Given the description of an element on the screen output the (x, y) to click on. 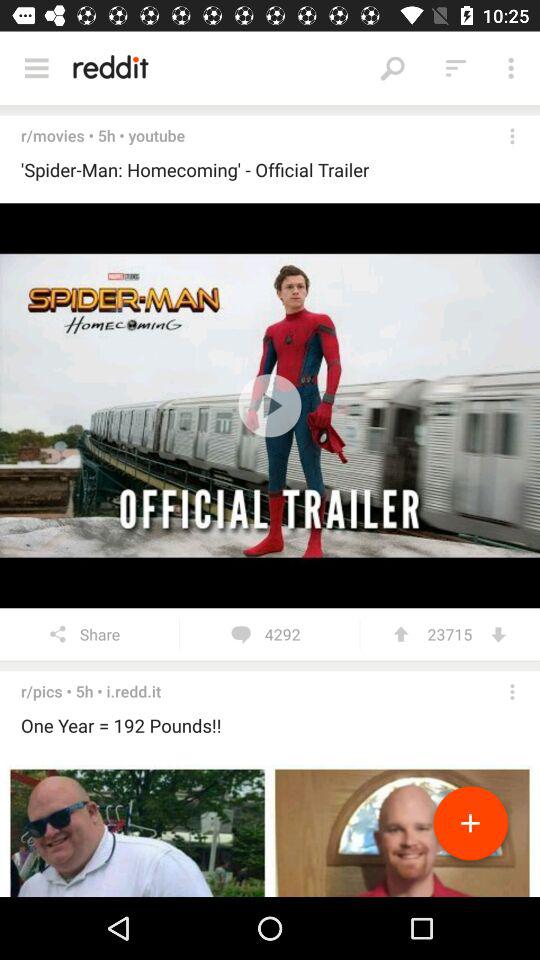
downvote post (498, 634)
